Given the description of an element on the screen output the (x, y) to click on. 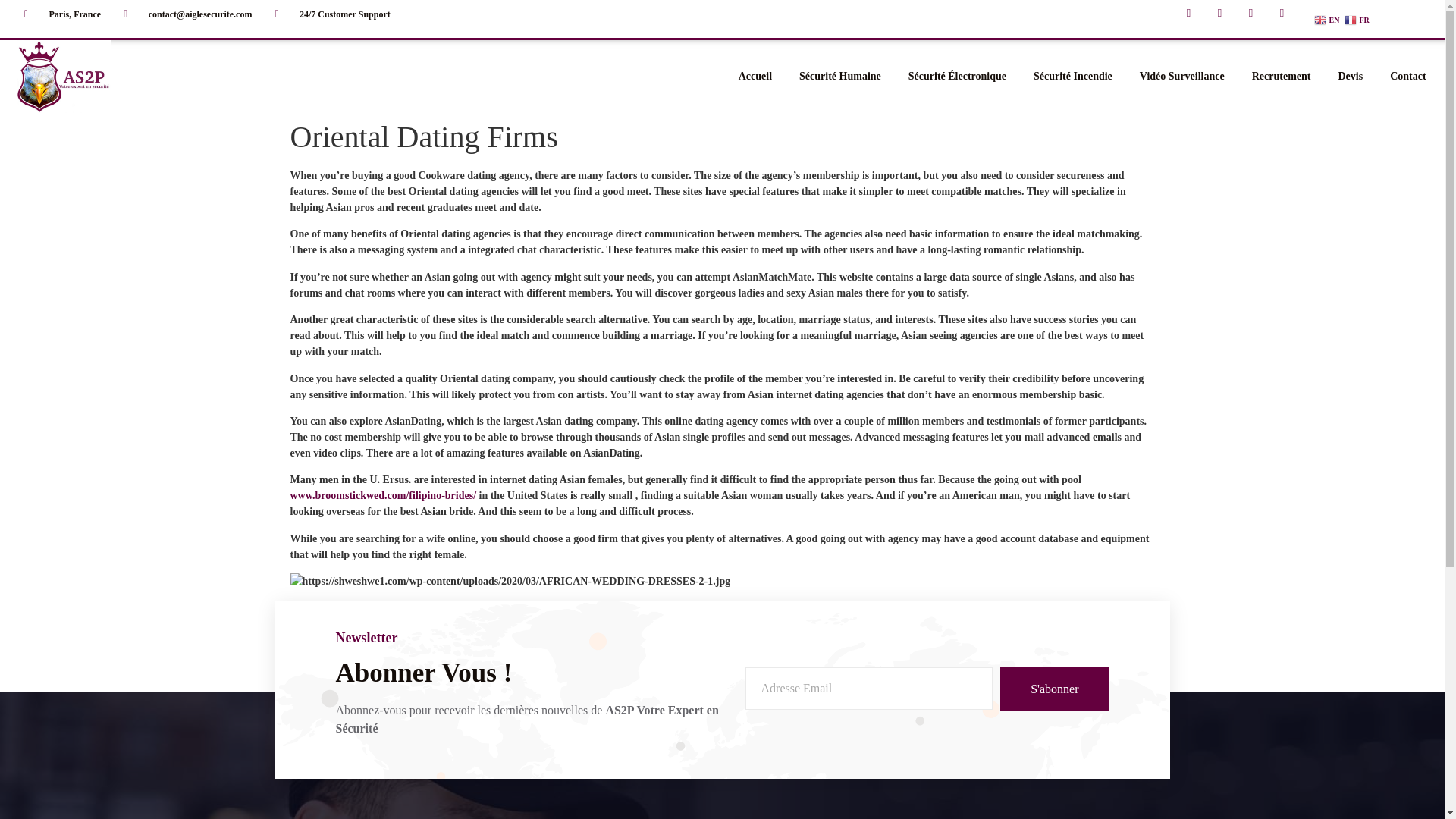
Devis (1349, 76)
Accueil (755, 76)
Recrutement (1281, 76)
FR (1357, 19)
French (1357, 19)
EN (1327, 19)
English (1327, 19)
Contact (1407, 76)
S'abonner (1054, 689)
